Given the description of an element on the screen output the (x, y) to click on. 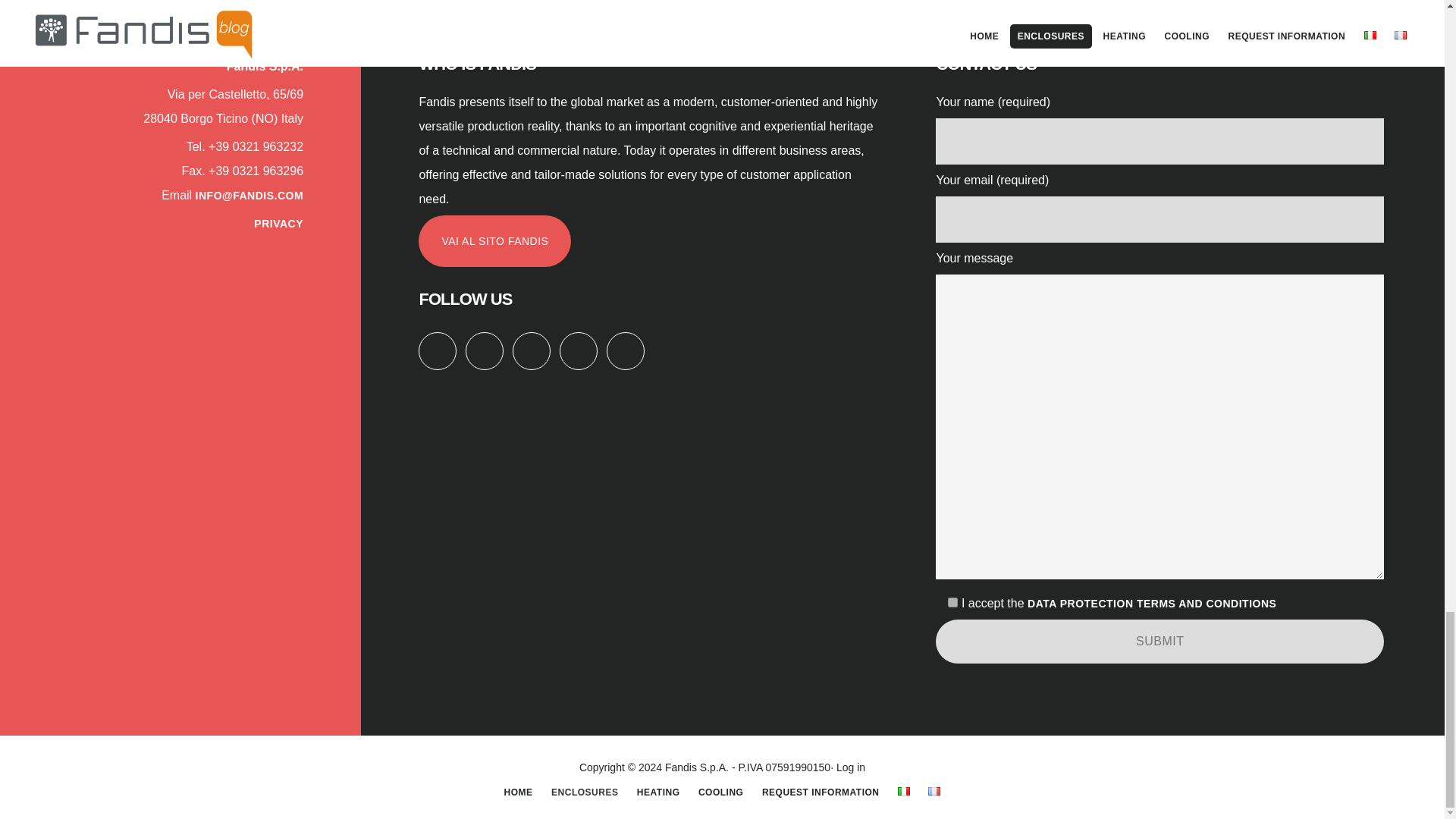
PRIVACY (277, 223)
VAI AL SITO FANDIS (494, 240)
Privacy (277, 223)
Submit (1160, 641)
Privacy policy (1151, 603)
1 (952, 602)
